Given the description of an element on the screen output the (x, y) to click on. 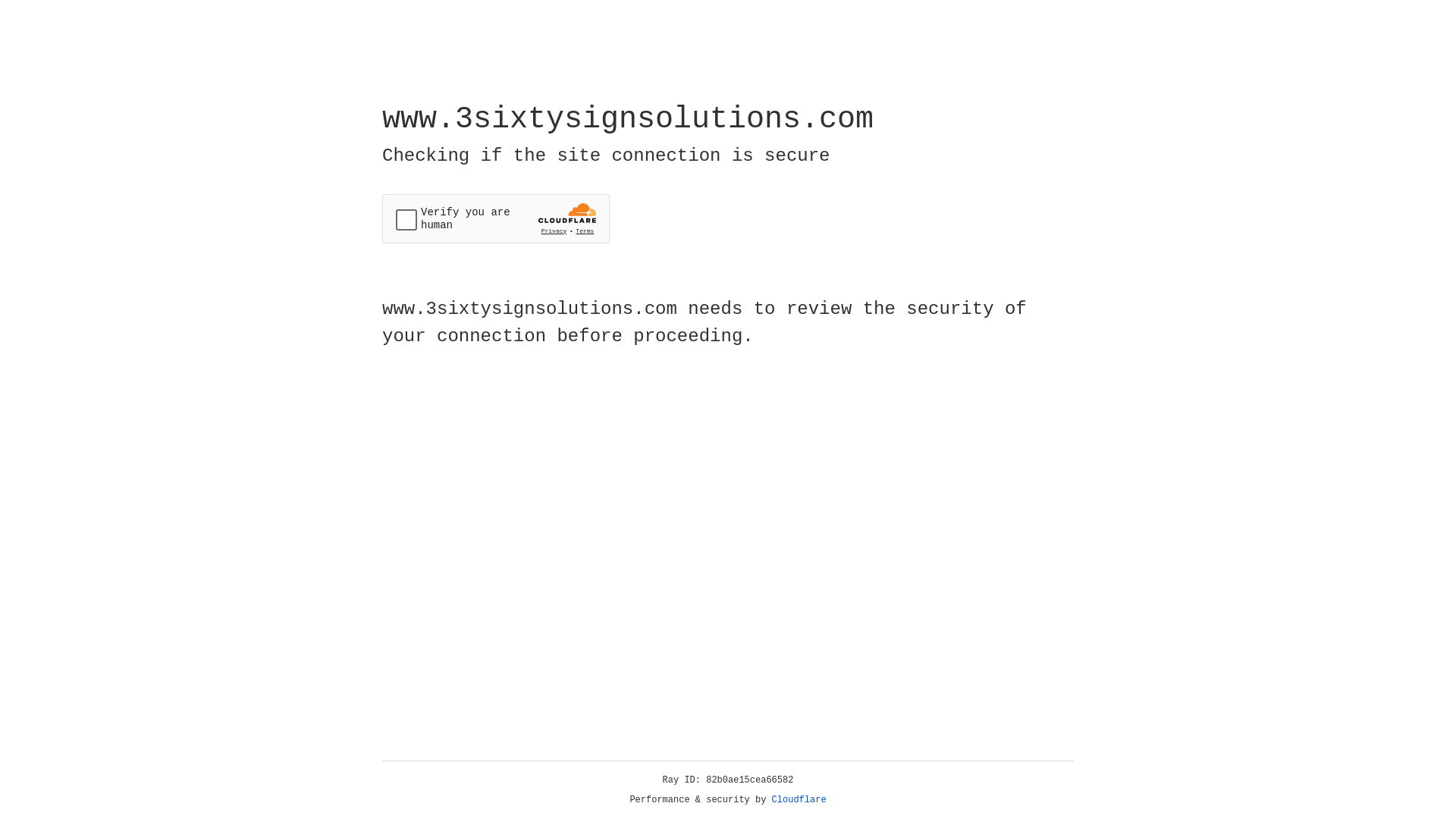
Cloudflare Element type: text (798, 799)
Widget containing a Cloudflare security challenge Element type: hover (495, 218)
